Given the description of an element on the screen output the (x, y) to click on. 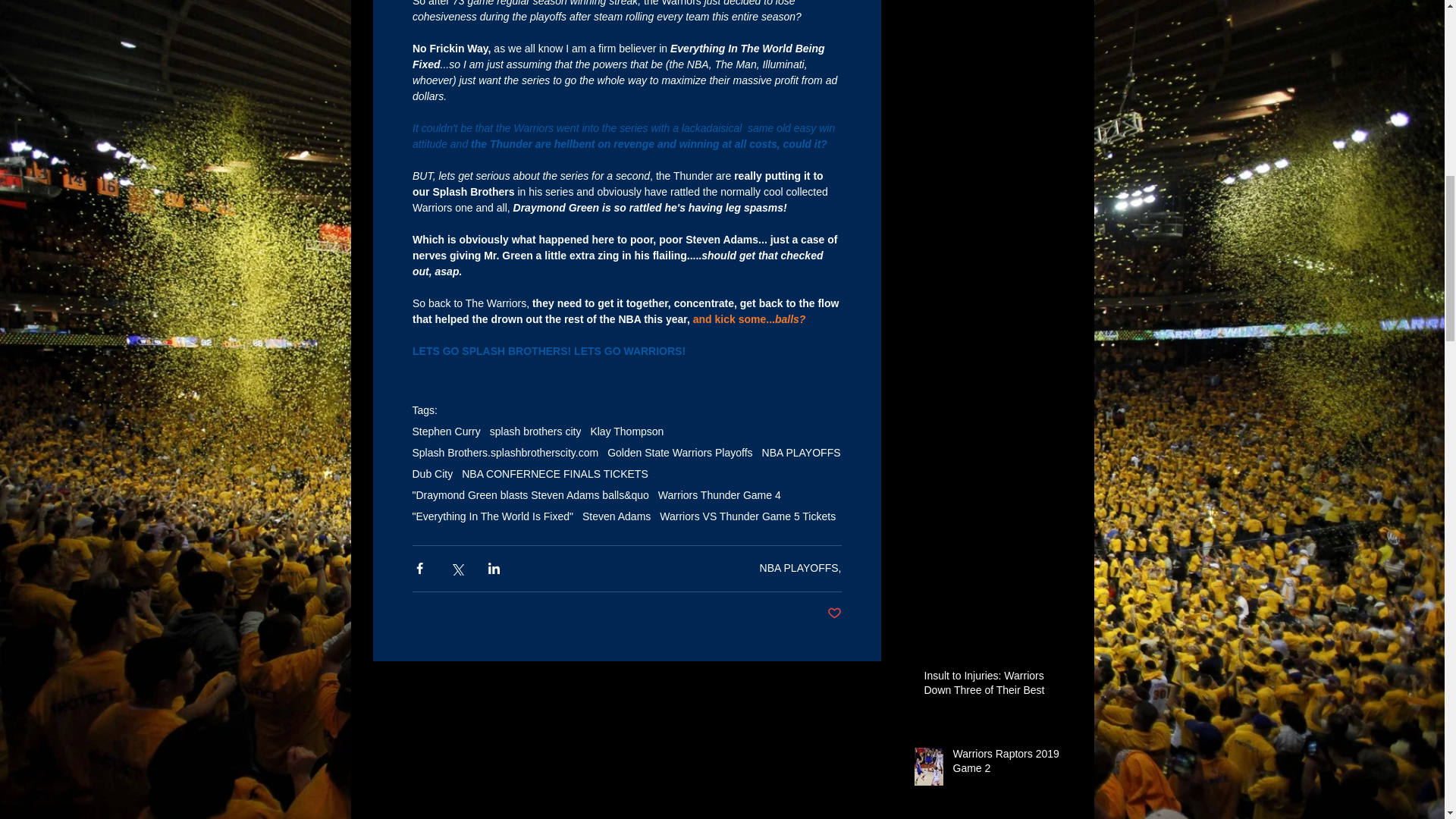
Splash Brothers.splashbrotherscity.com (505, 452)
"Everything In The World Is Fixed" (492, 516)
splash brothers city (534, 431)
Post not marked as liked (834, 613)
Golden State Warriors Playoffs (679, 452)
NBA CONFERNECE FINALS TICKETS (554, 473)
Stephen Curry (446, 431)
NBA PLAYOFFS, (800, 567)
Klay Thompson (626, 431)
Steven Adams (616, 516)
NBA PLAYOFFS (801, 452)
Warriors VS Thunder Game 5 Tickets (747, 516)
Warriors Thunder Game 4 (719, 494)
Dub City (432, 473)
